Given the description of an element on the screen output the (x, y) to click on. 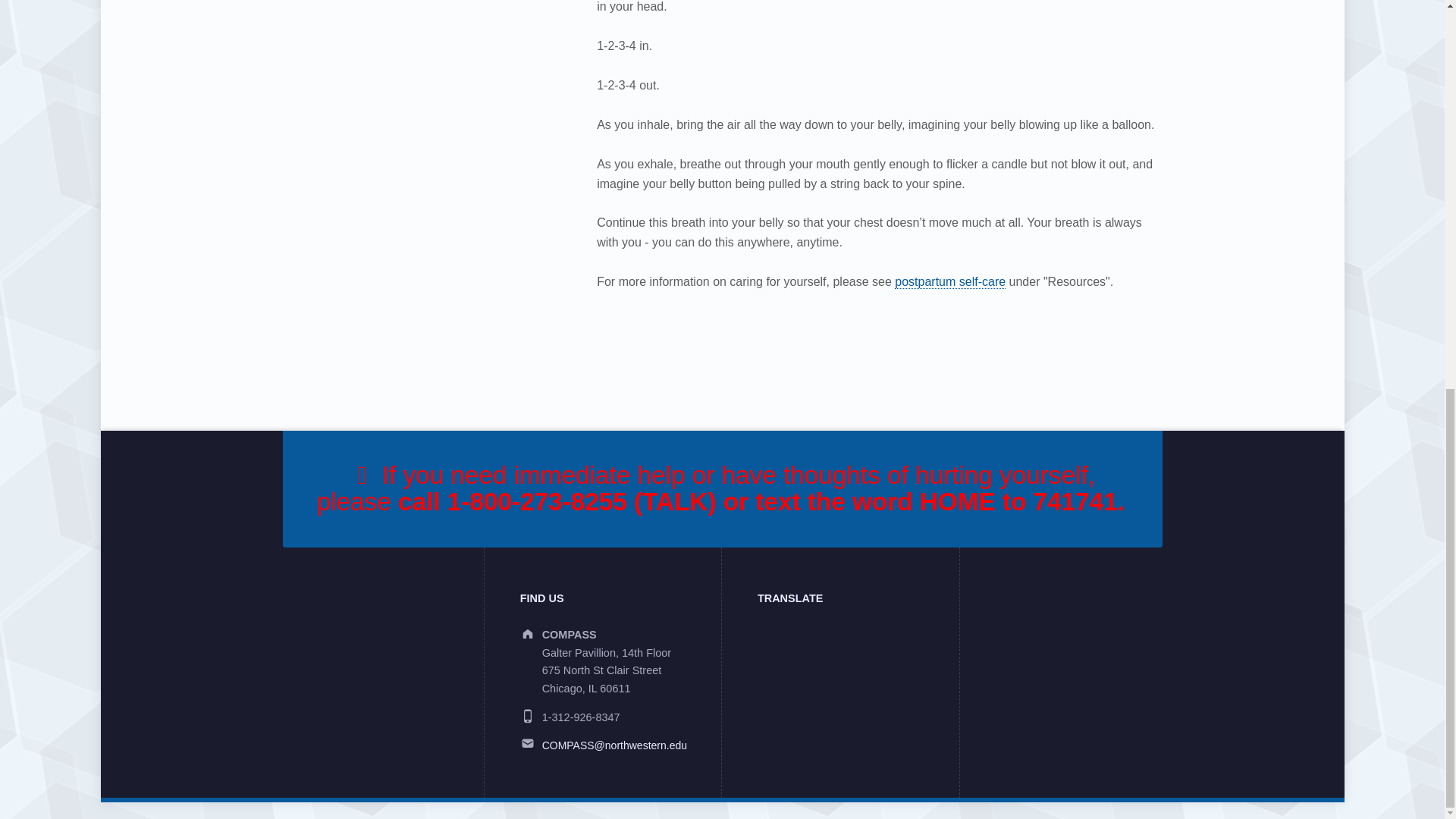
postpartum self-care (950, 282)
